Given the description of an element on the screen output the (x, y) to click on. 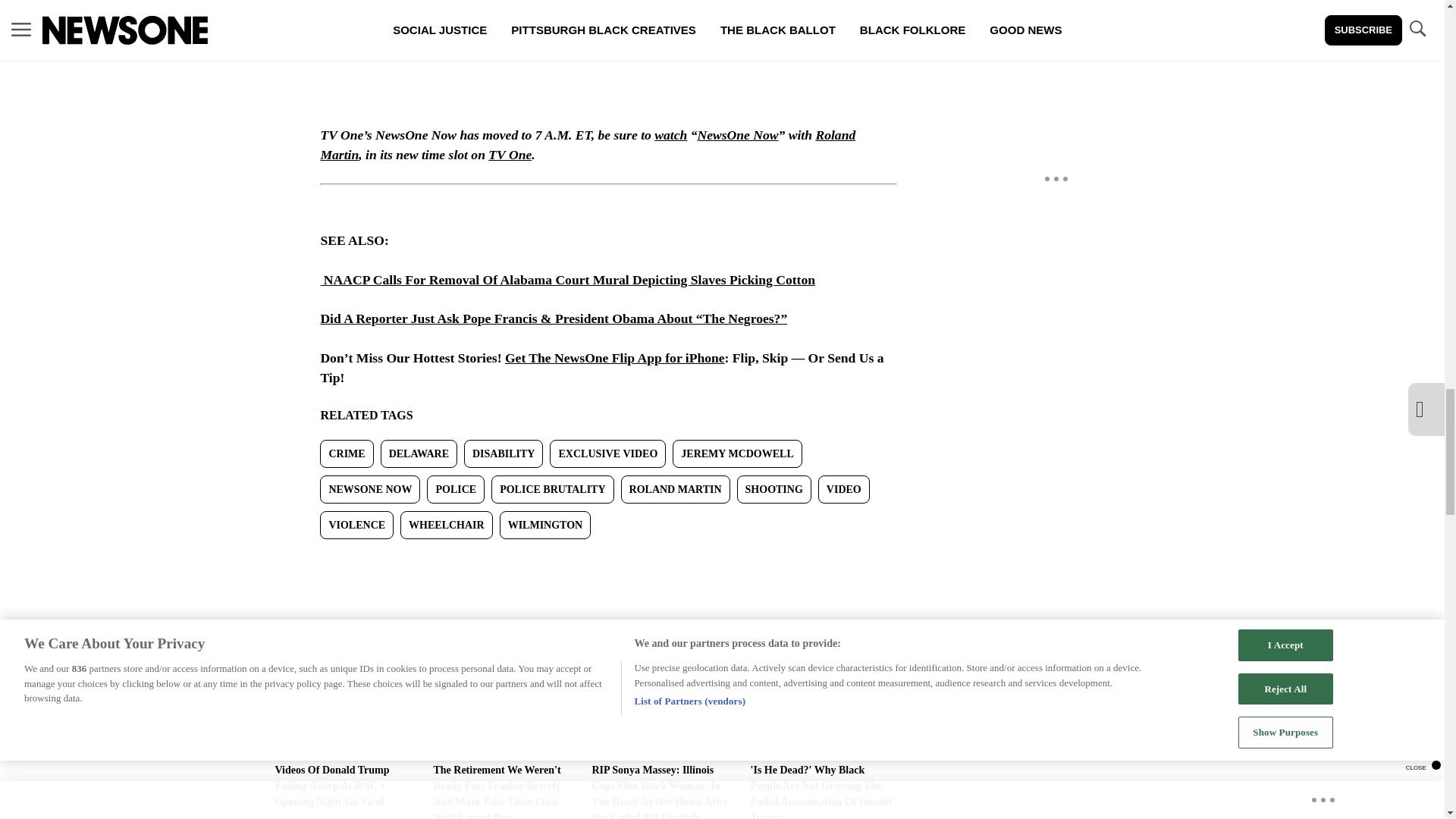
CRIME (346, 453)
NEWSONE NOW (370, 489)
NewsOne Now with Roland Martin (670, 134)
TV One (509, 154)
POLICE BRUTALITY (552, 489)
NewsOne Now (737, 134)
JEREMY MCDOWELL (737, 453)
Roland Martin (588, 144)
DISABILITY (503, 453)
watch (670, 134)
DELAWARE (418, 453)
Get The NewsOne Flip App for iPhone (615, 357)
NewsOne Now with Roland Martin on TV One (509, 154)
POLICE (455, 489)
